Given the description of an element on the screen output the (x, y) to click on. 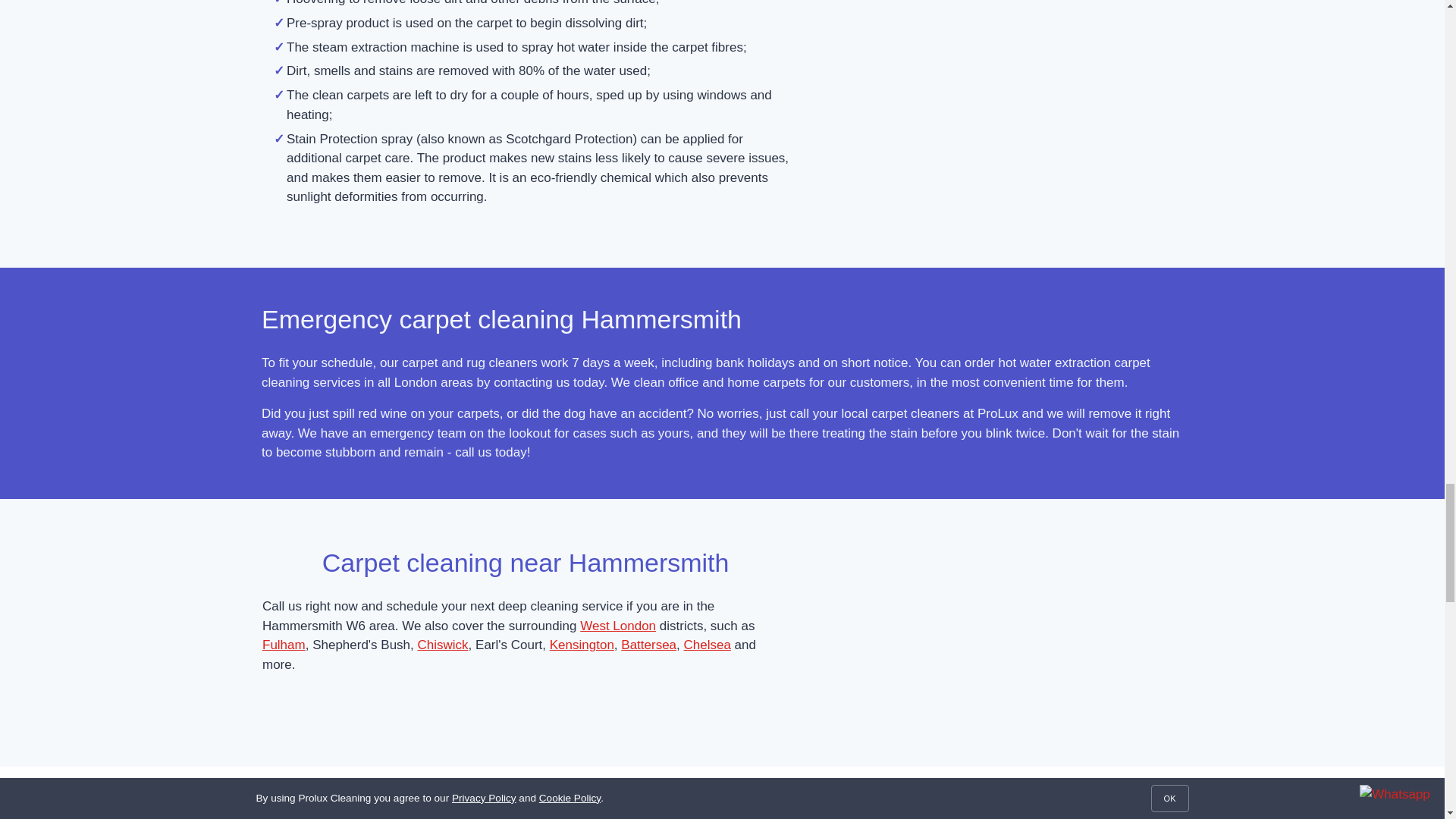
Fulham (283, 644)
Chiswick (442, 644)
Chelsea (707, 644)
Battersea (649, 644)
Kensington (582, 644)
West London (617, 626)
